Given the description of an element on the screen output the (x, y) to click on. 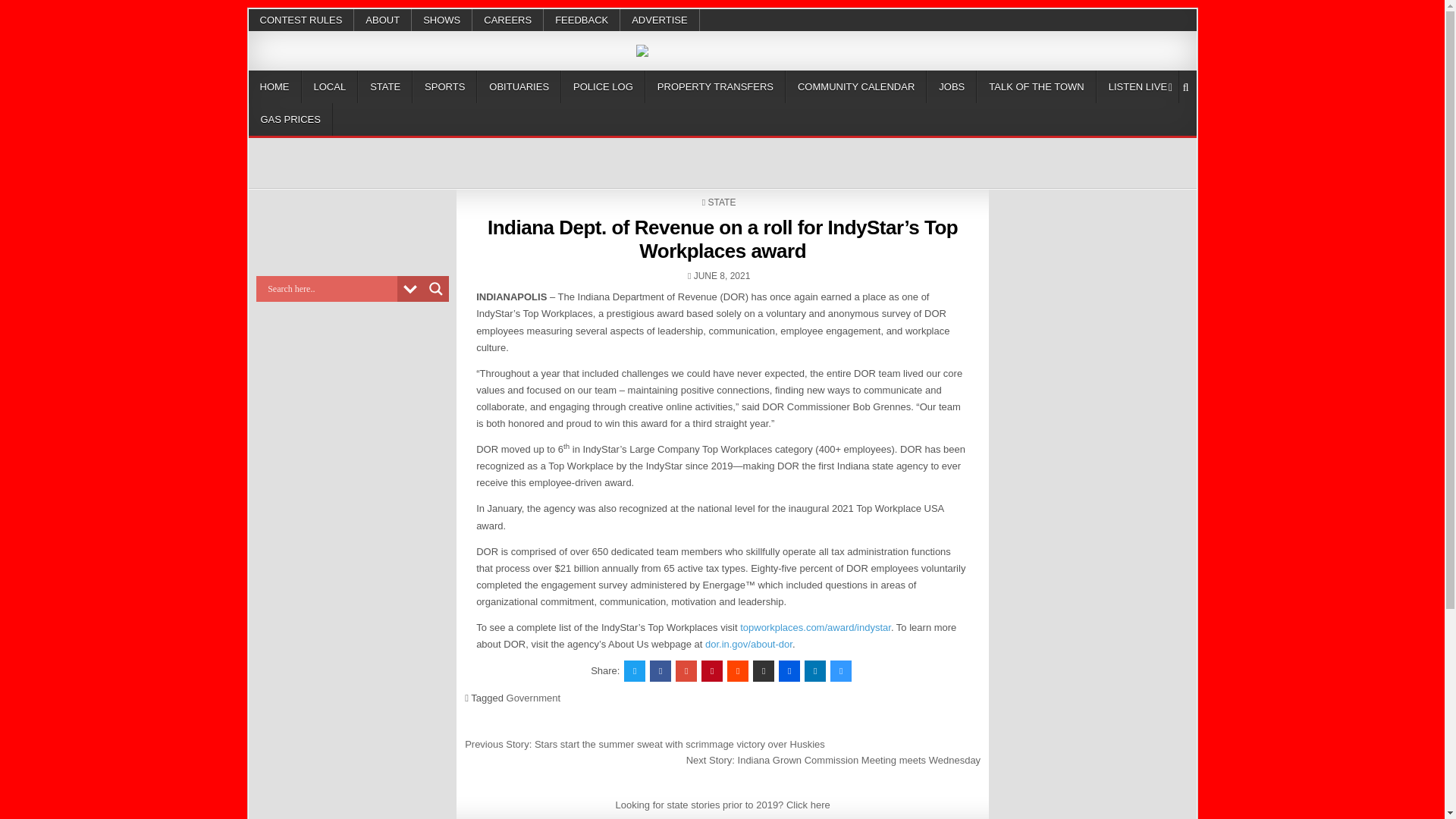
FEEDBACK (581, 20)
STATE (385, 86)
CONTEST RULES (301, 20)
ADVERTISE (659, 20)
CAREERS (507, 20)
SHOWS (441, 20)
ABOUT (382, 20)
HOME (274, 86)
SPORTS (444, 86)
LOCAL (329, 86)
